Given the description of an element on the screen output the (x, y) to click on. 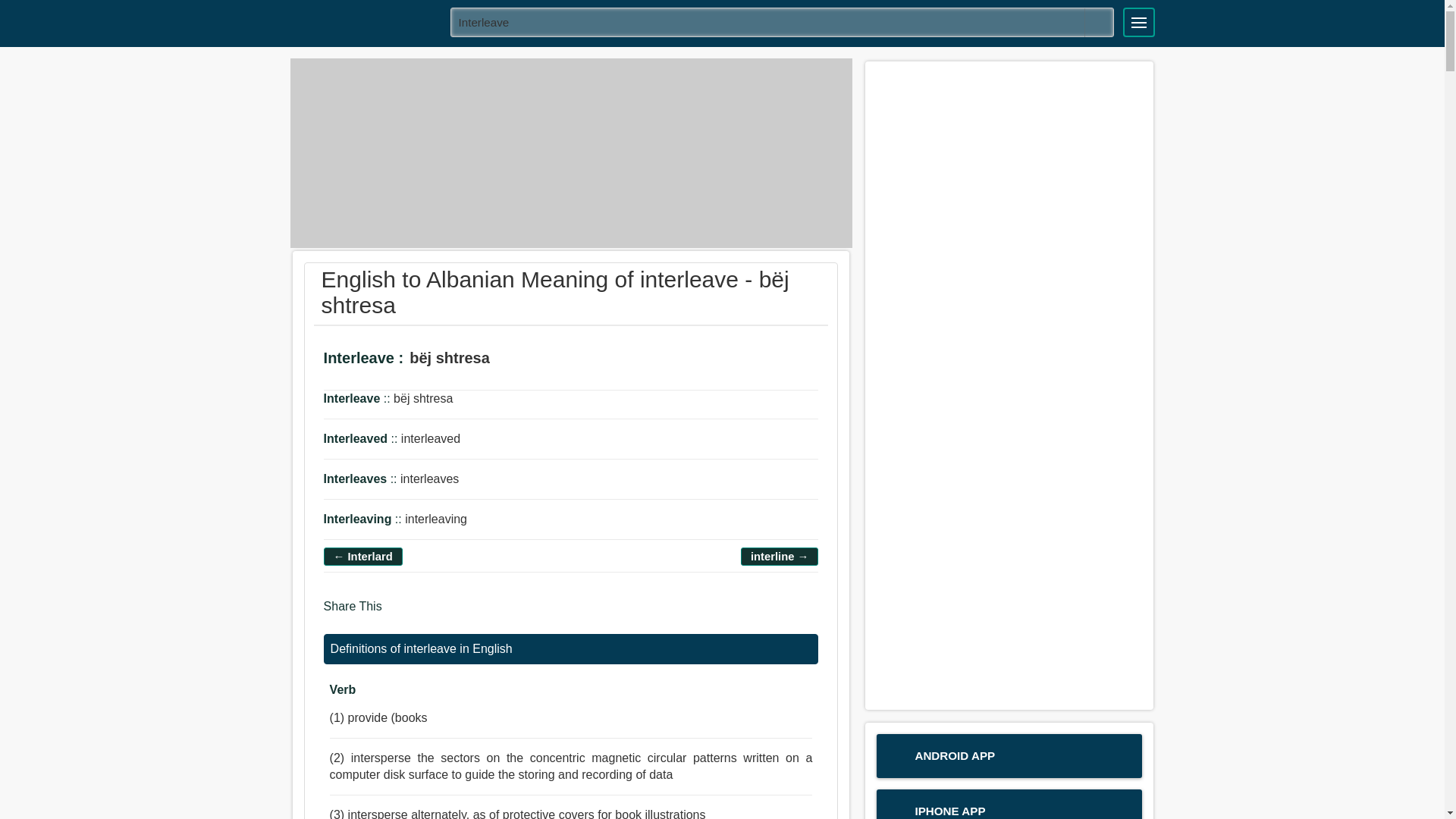
interleave (782, 21)
English to Albanian meaning of interlard (362, 556)
Twitter (428, 612)
Facebook (398, 612)
Search (1098, 22)
Add To Favorites (556, 360)
Linkedin (458, 612)
English to Albanian meaning of interline (778, 556)
More Share (485, 612)
Say The Word (515, 360)
